Given the description of an element on the screen output the (x, y) to click on. 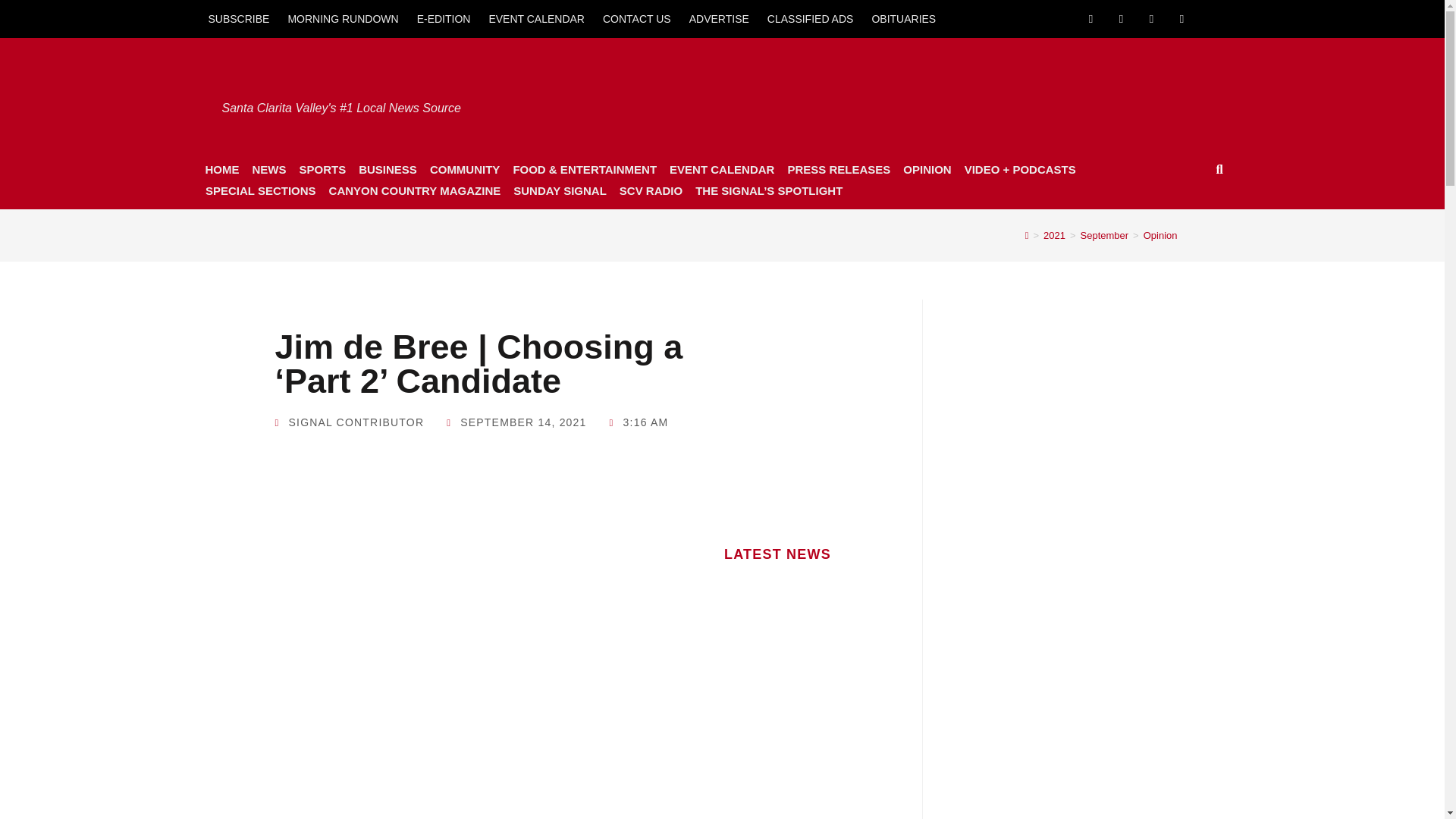
HOME (221, 169)
EVENT CALENDAR (536, 18)
CLASSIFIED ADS (810, 18)
SUBSCRIBE (238, 18)
E-EDITION (443, 18)
MORNING RUNDOWN (342, 18)
CONTACT US (636, 18)
NEWS (269, 169)
SPORTS (322, 169)
OBITUARIES (902, 18)
ADVERTISE (718, 18)
